Given the description of an element on the screen output the (x, y) to click on. 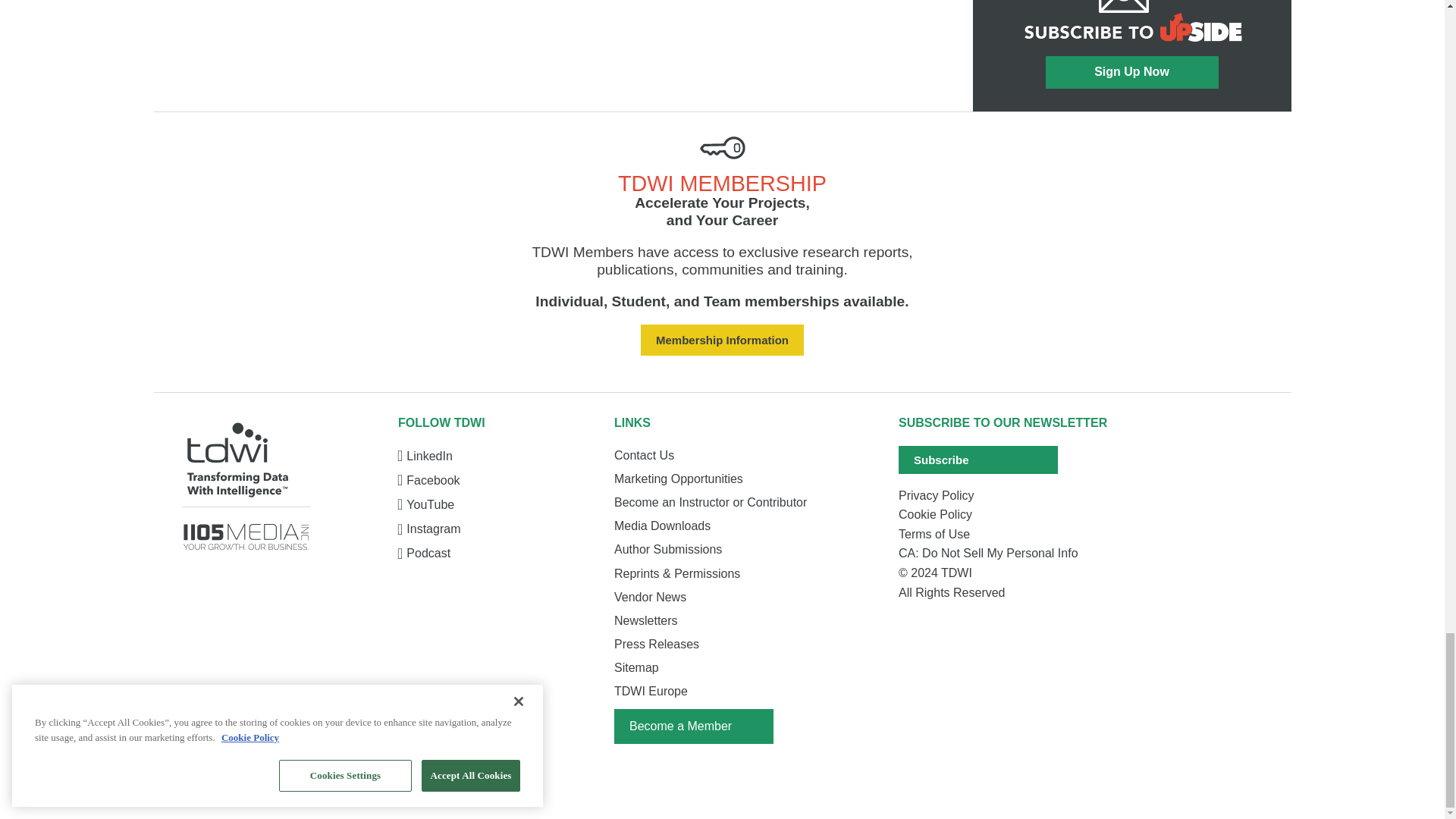
Privacy Policy (1011, 496)
Terms of Use (1011, 534)
Cookie Policy (1011, 514)
